Given the description of an element on the screen output the (x, y) to click on. 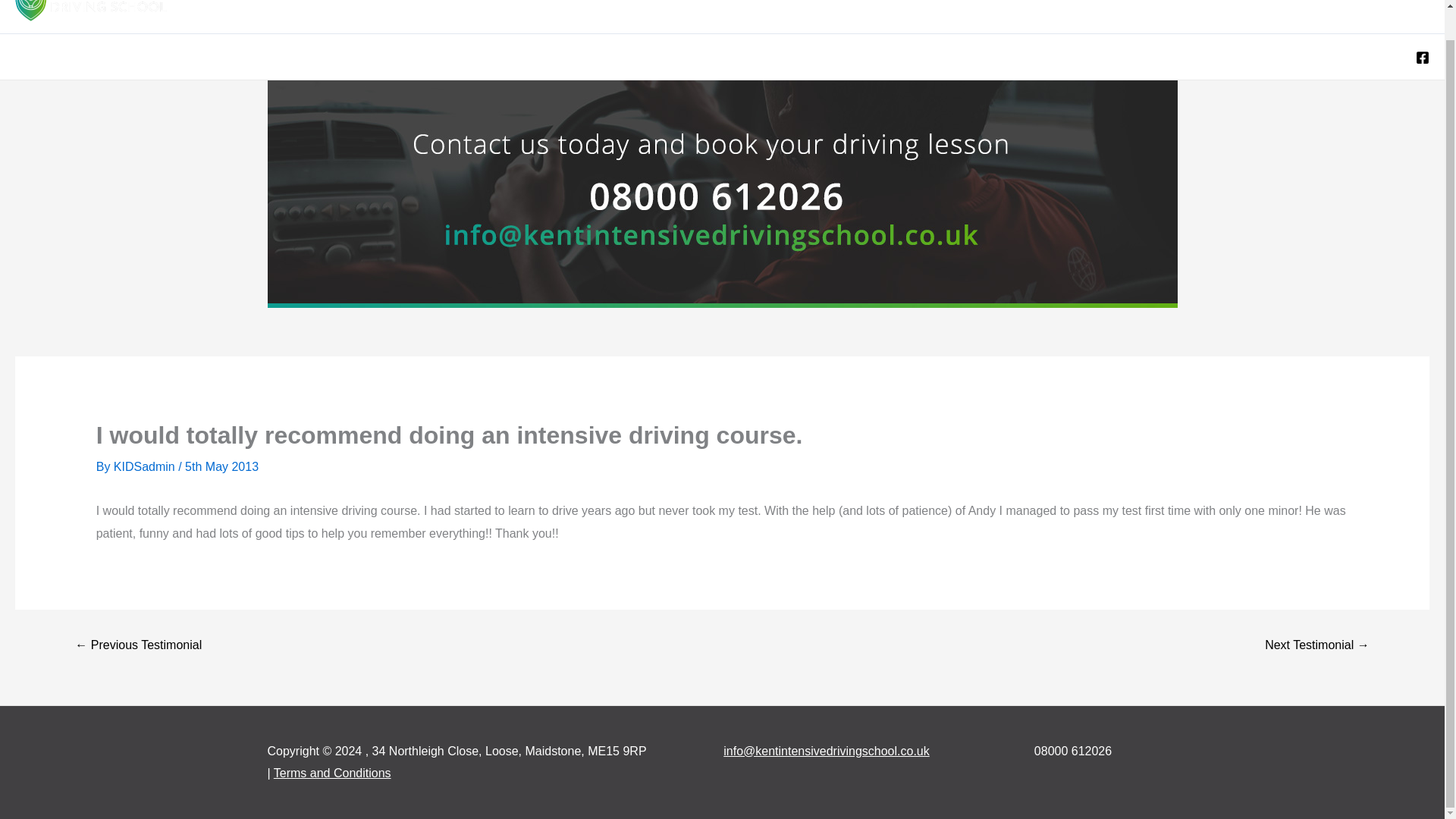
Contact Us (1387, 11)
About Us (1308, 11)
Tests (1024, 11)
Instructor Training (1118, 11)
View all posts by KIDSadmin (145, 466)
Congratulations Ethan! (133, 193)
Home (588, 11)
Booking Forms (930, 11)
Testimonials (1225, 11)
Areas Covered (676, 11)
